Given the description of an element on the screen output the (x, y) to click on. 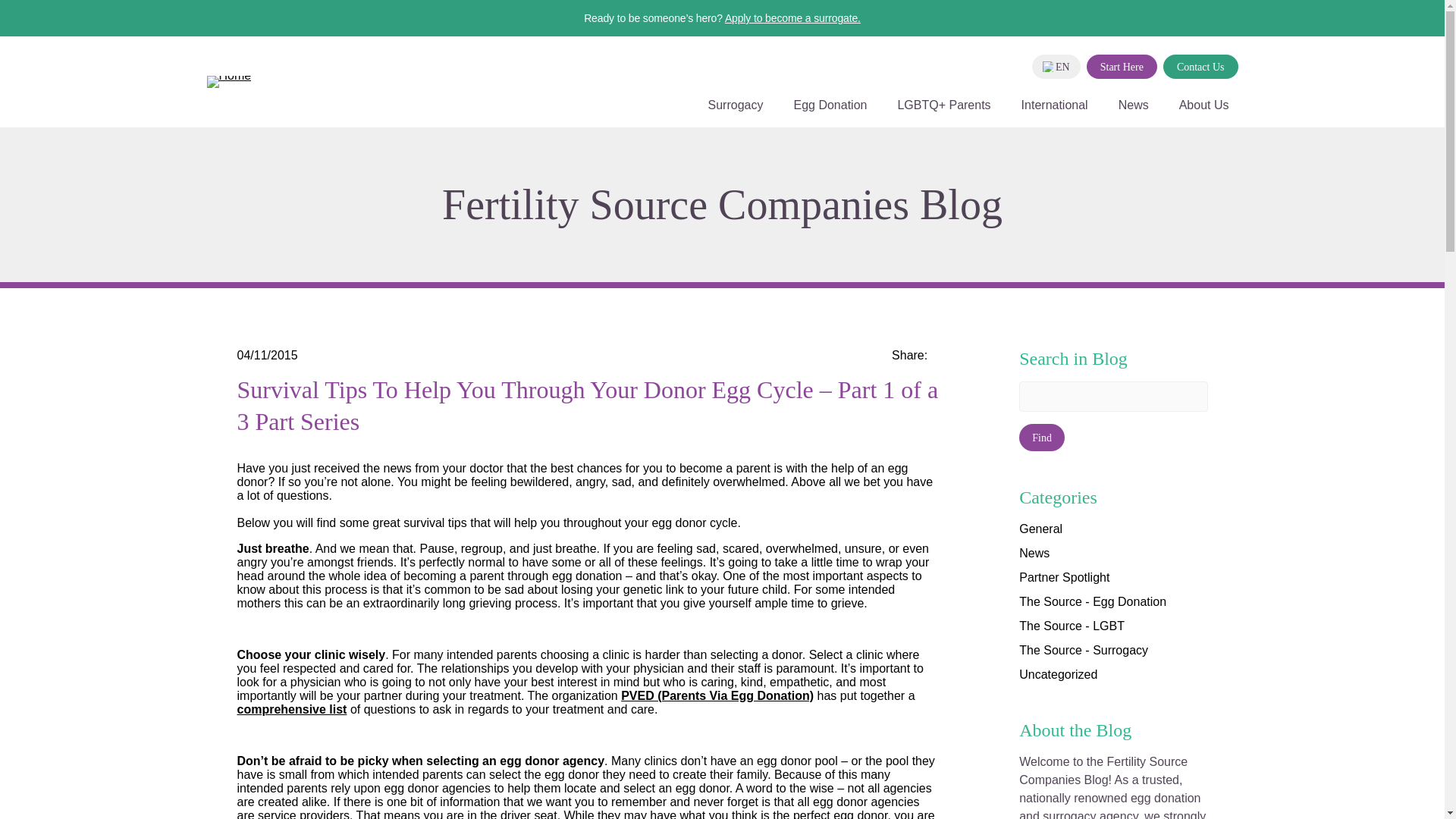
Apply to become a surrogate. (792, 18)
Contact Us (1201, 66)
EN (1056, 66)
Egg Donation (830, 111)
Surrogacy (735, 111)
Start Here (1121, 66)
